Given the description of an element on the screen output the (x, y) to click on. 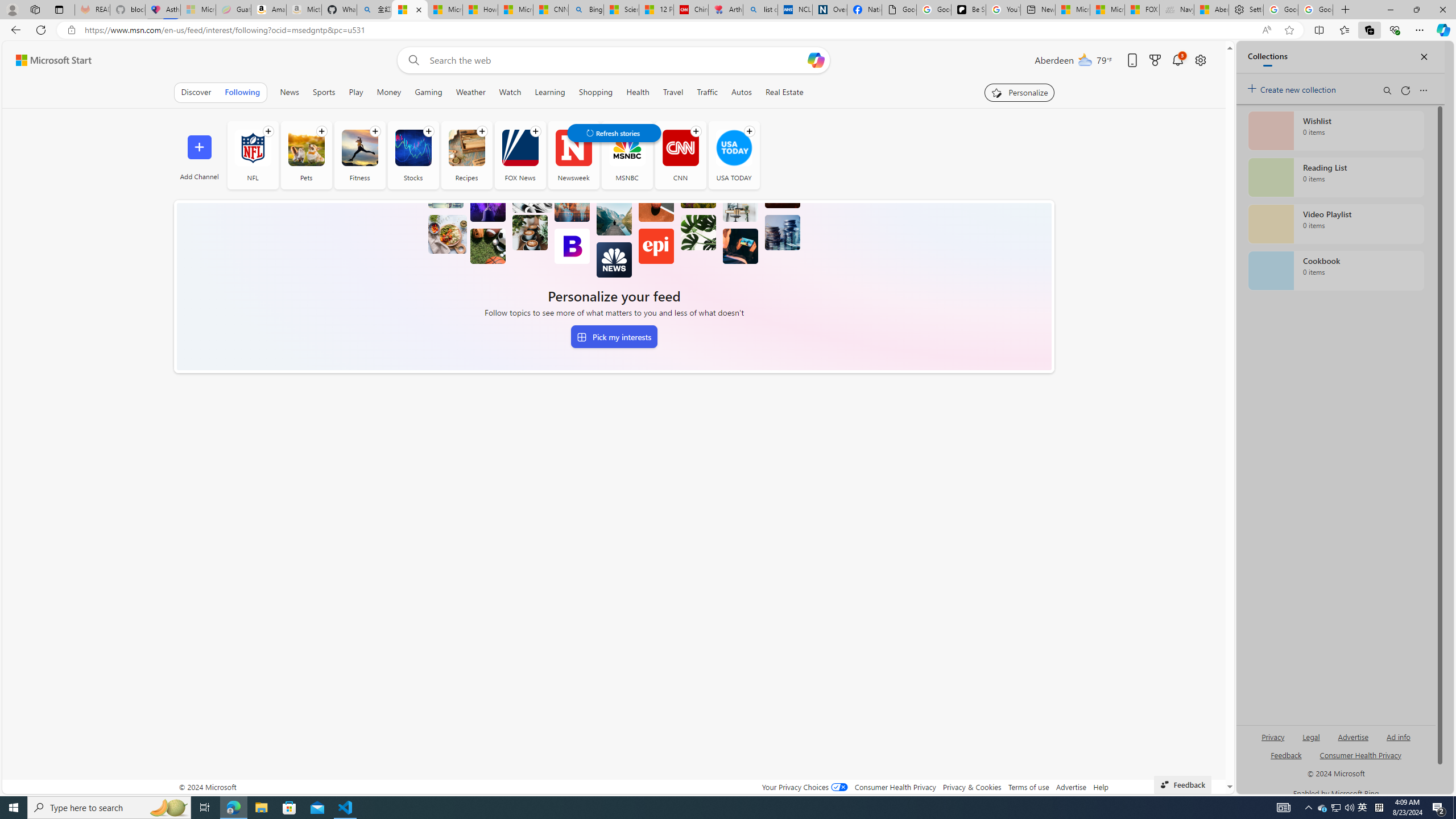
New tab (1037, 9)
Stocks (413, 155)
Autos (741, 92)
FOX News (519, 155)
Skip to content (49, 59)
Bing (585, 9)
Be Smart | creating Science videos | Patreon (968, 9)
Google Analytics Opt-out Browser Add-on Download Page (898, 9)
Health (637, 92)
Science - MSN (620, 9)
Money (389, 92)
AutomationID: genId96 (1285, 759)
Newsweek (573, 155)
